Given the description of an element on the screen output the (x, y) to click on. 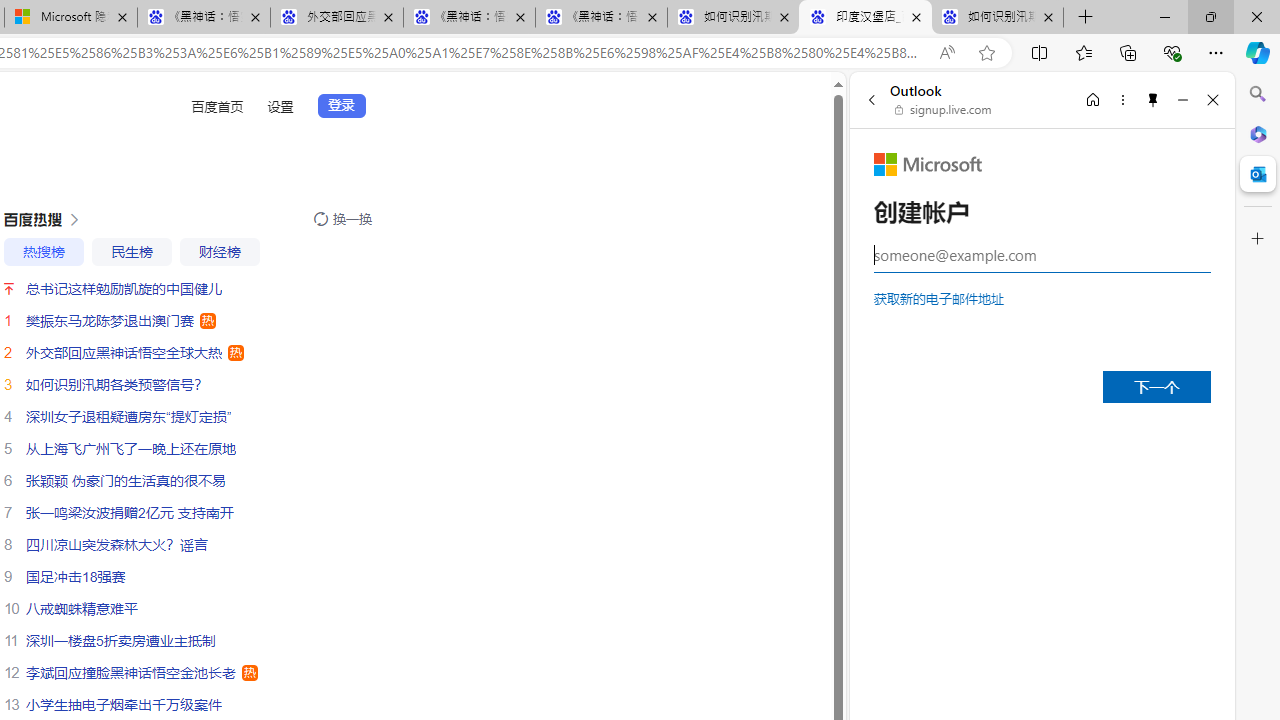
signup.live.com (943, 110)
Microsoft (927, 164)
